Given the description of an element on the screen output the (x, y) to click on. 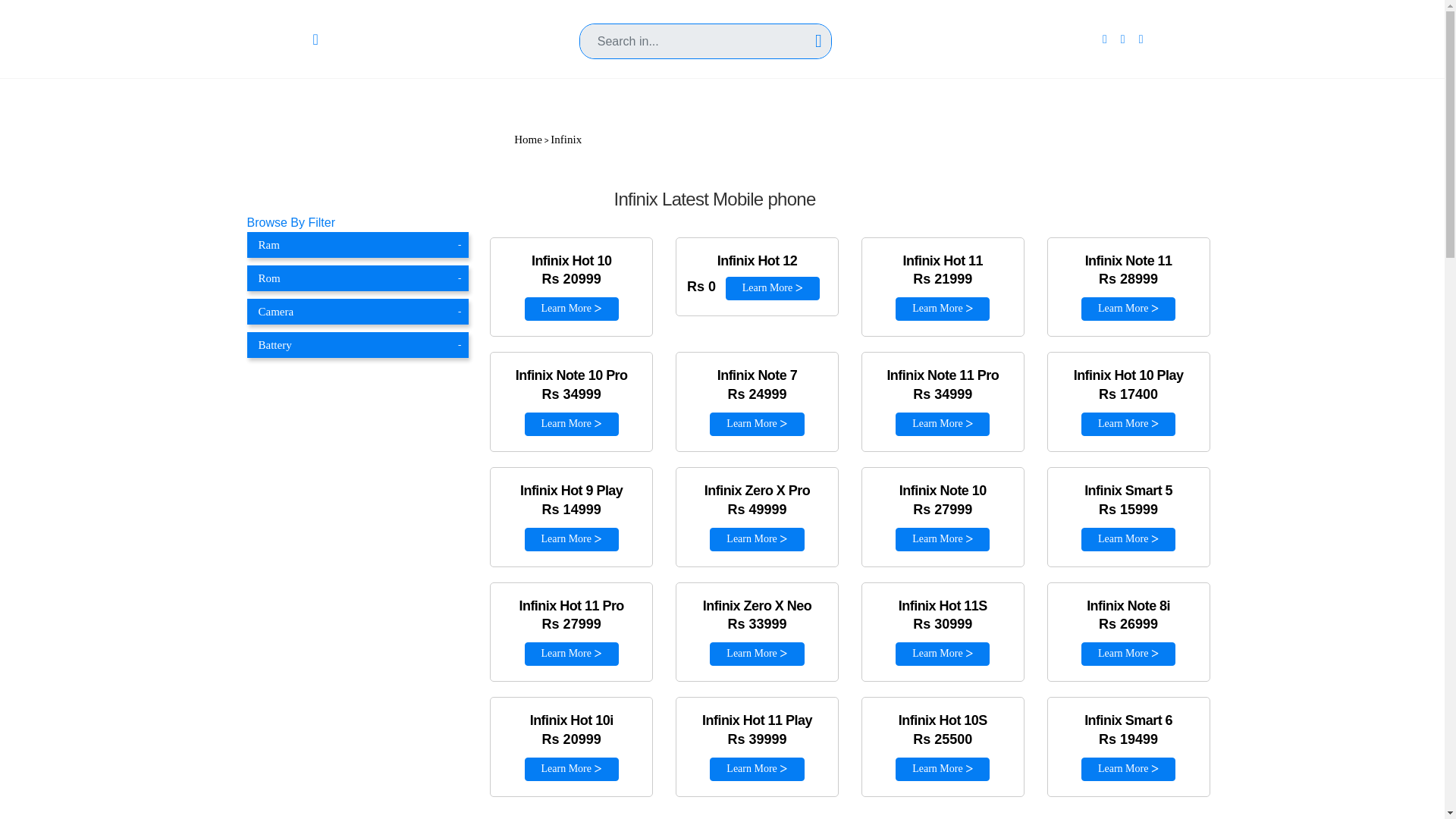
Infinix (565, 139)
Ram (357, 244)
Battery (357, 344)
Rom (357, 278)
Home (527, 139)
Search (705, 20)
Camera (357, 311)
